Given the description of an element on the screen output the (x, y) to click on. 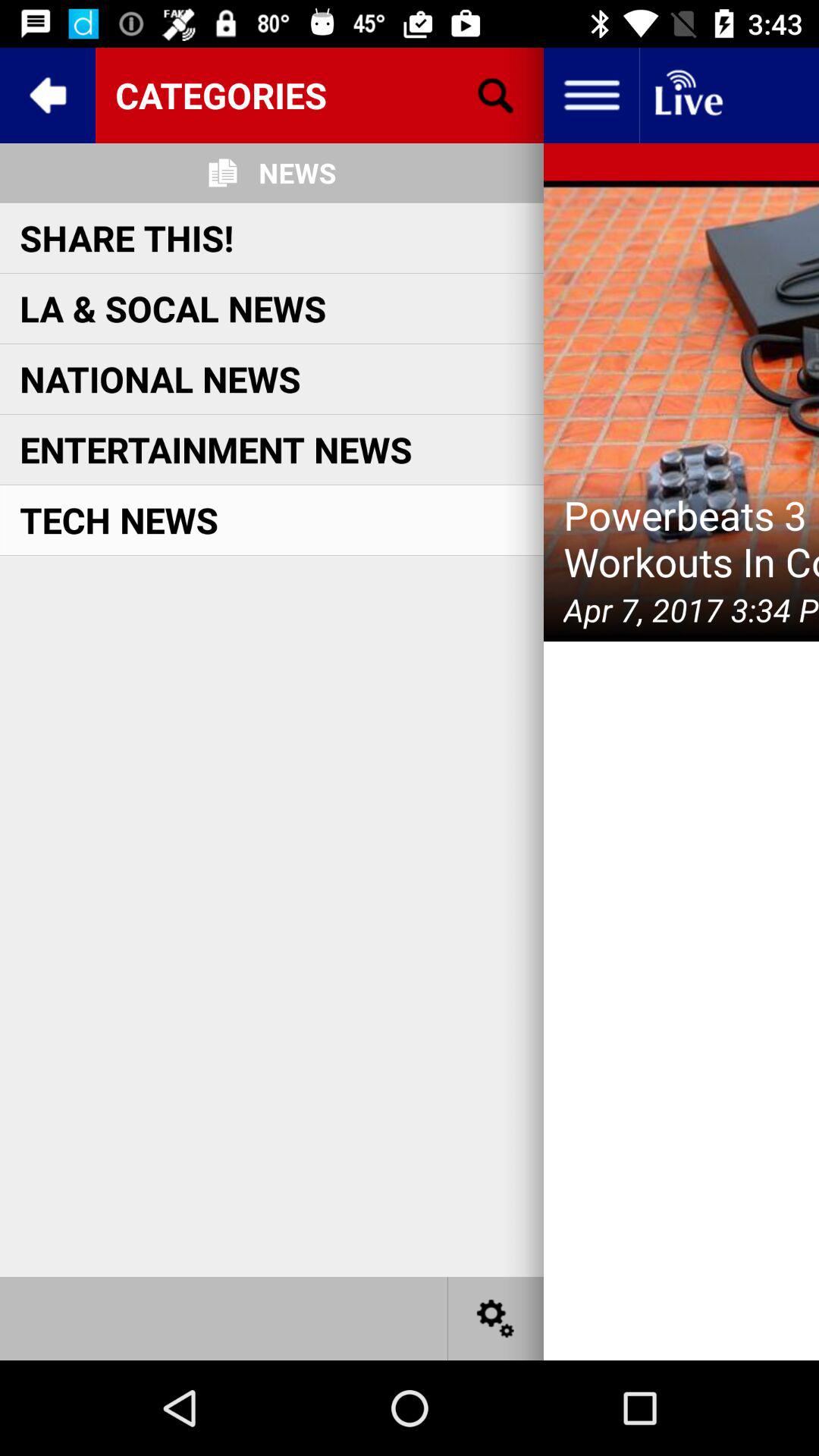
hit option button (591, 95)
